Given the description of an element on the screen output the (x, y) to click on. 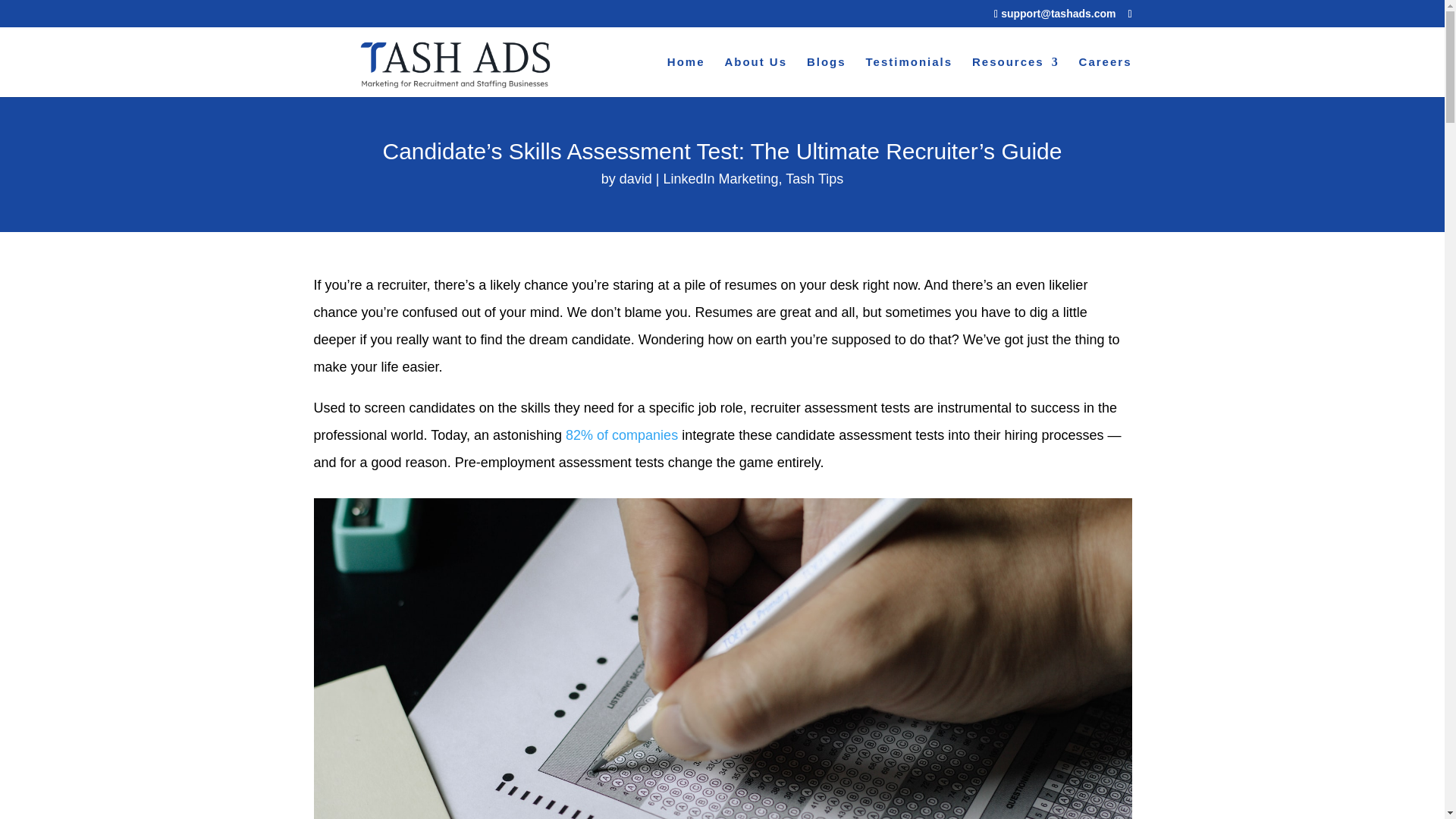
Home (685, 76)
Testimonials (909, 76)
Blogs (825, 76)
Posts by david (636, 178)
About Us (755, 76)
Resources (1015, 76)
Careers (1105, 76)
